Given the description of an element on the screen output the (x, y) to click on. 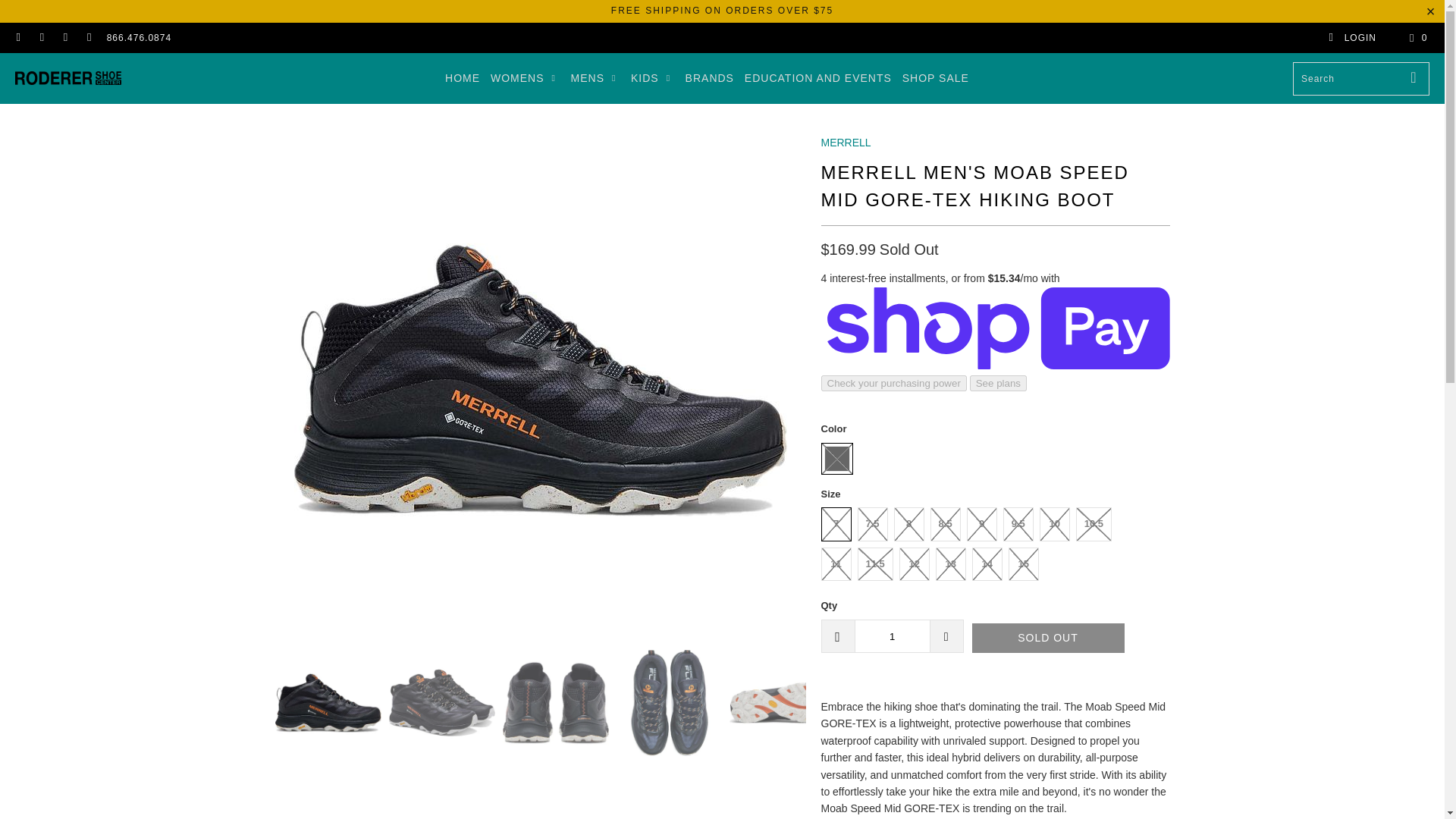
Roderer Shoe Center on LinkedIn (64, 37)
1 (891, 635)
Roderer Shoe Center (67, 78)
Roderer Shoe Center on Instagram (41, 37)
My Account  (1351, 37)
Email Roderer Shoe Center (87, 37)
MERRELL (845, 142)
Roderer Shoe Center on Facebook (17, 37)
